Given the description of an element on the screen output the (x, y) to click on. 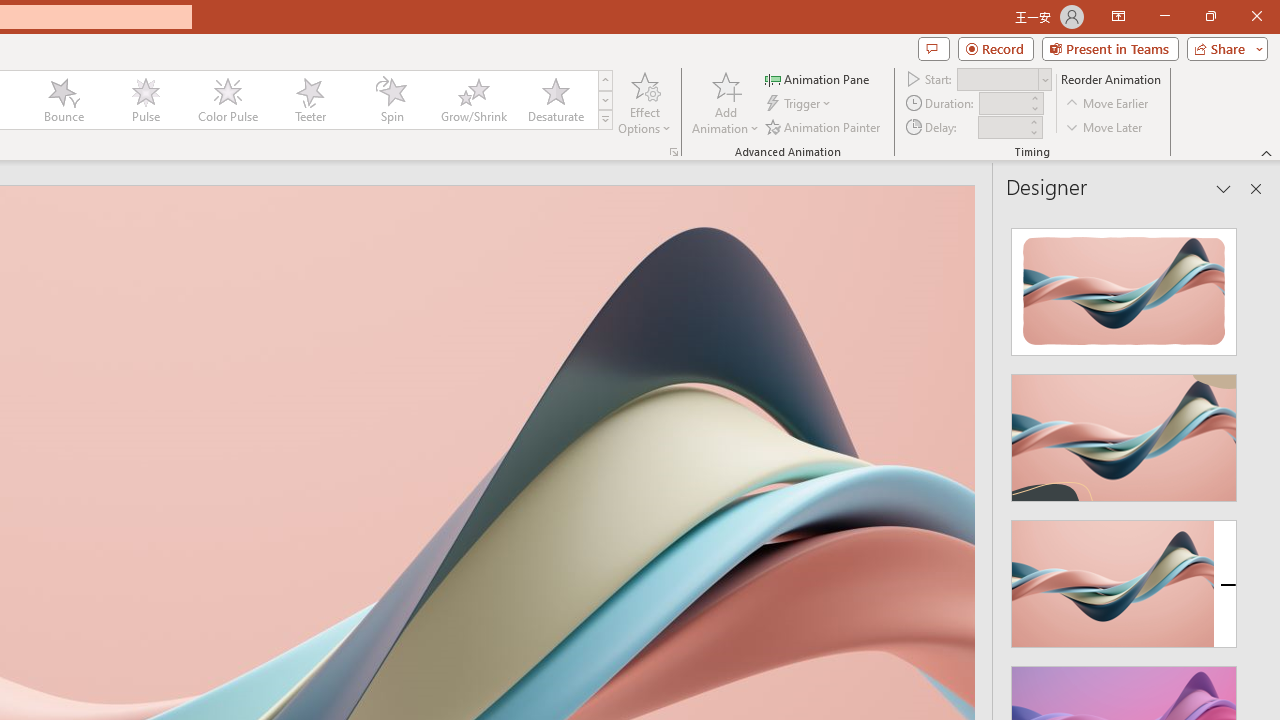
Teeter (309, 100)
Animation Painter (824, 126)
Effect Options (644, 102)
Animation Delay (1002, 127)
Animation Styles (605, 120)
Desaturate (555, 100)
Pulse (145, 100)
